Given the description of an element on the screen output the (x, y) to click on. 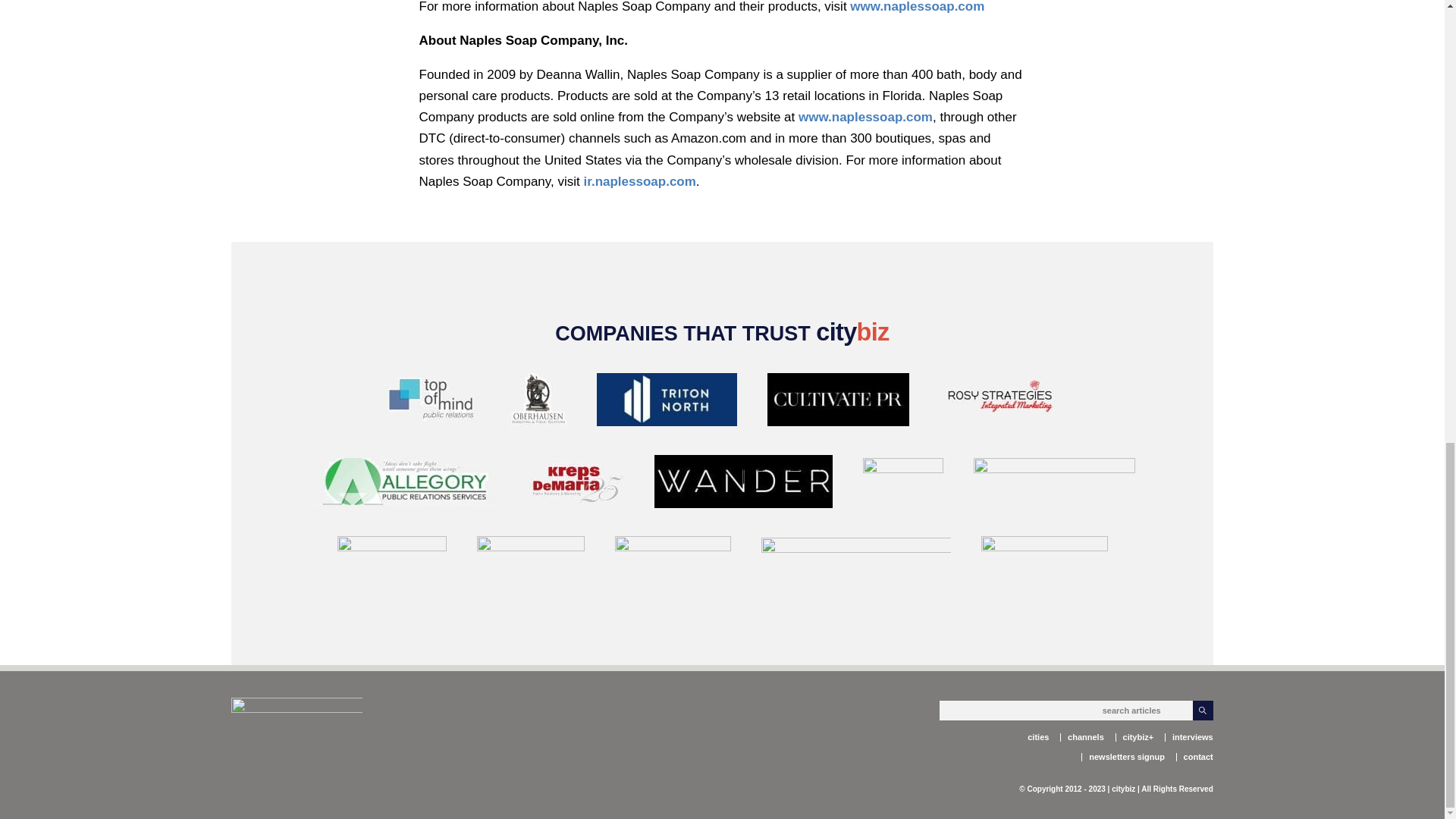
Allegory PR Services (403, 484)
Search (1202, 710)
Search (1202, 710)
Triton North (665, 402)
Rosy Strategies (999, 402)
Cultivate PR (838, 402)
Top of Mind PR (431, 402)
LEFT Communication (903, 484)
Wander PR (742, 484)
